Given the description of an element on the screen output the (x, y) to click on. 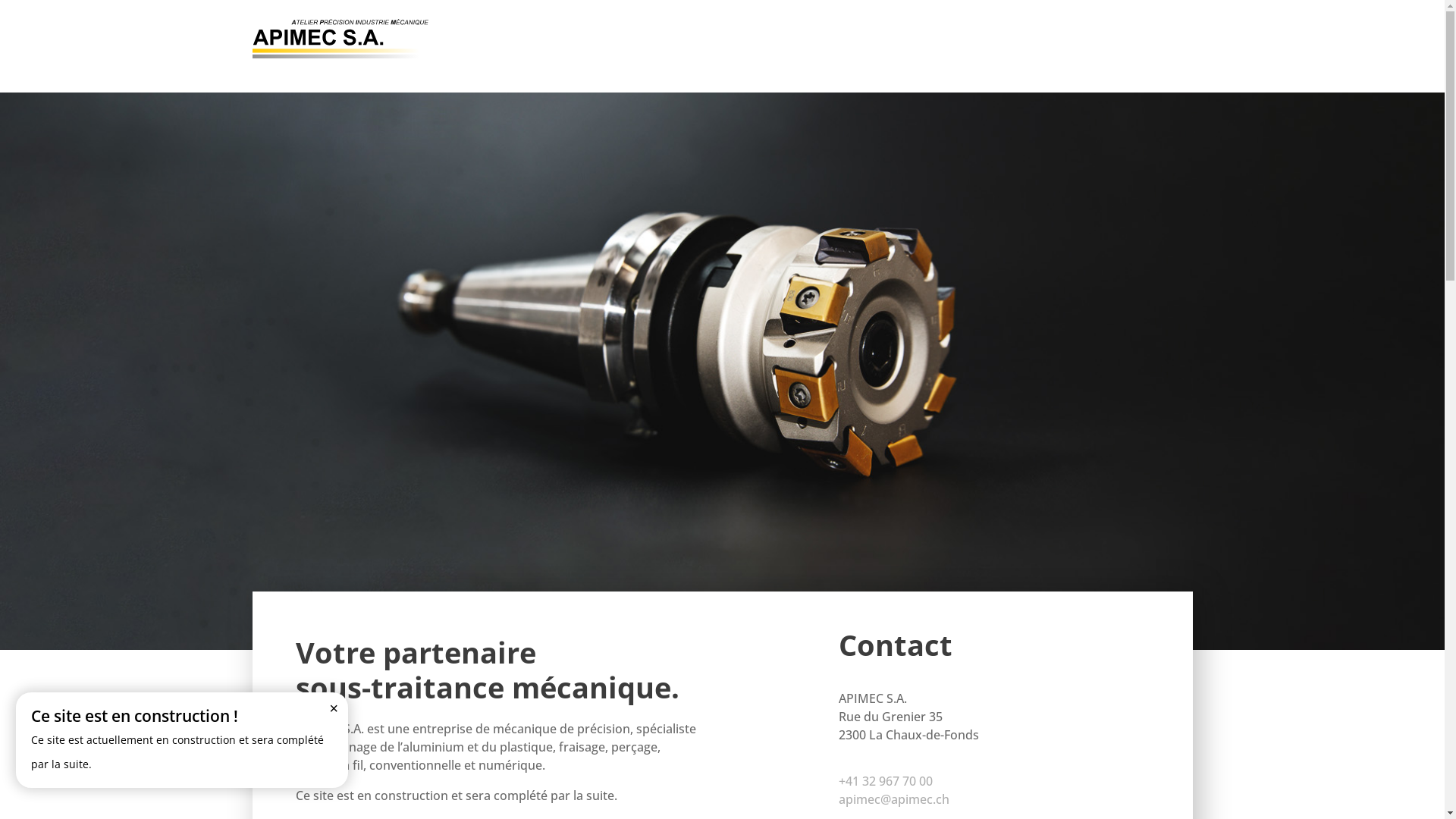
+41 32 967 70 00 Element type: text (885, 780)
apimec@apimec.ch Element type: text (893, 798)
